Given the description of an element on the screen output the (x, y) to click on. 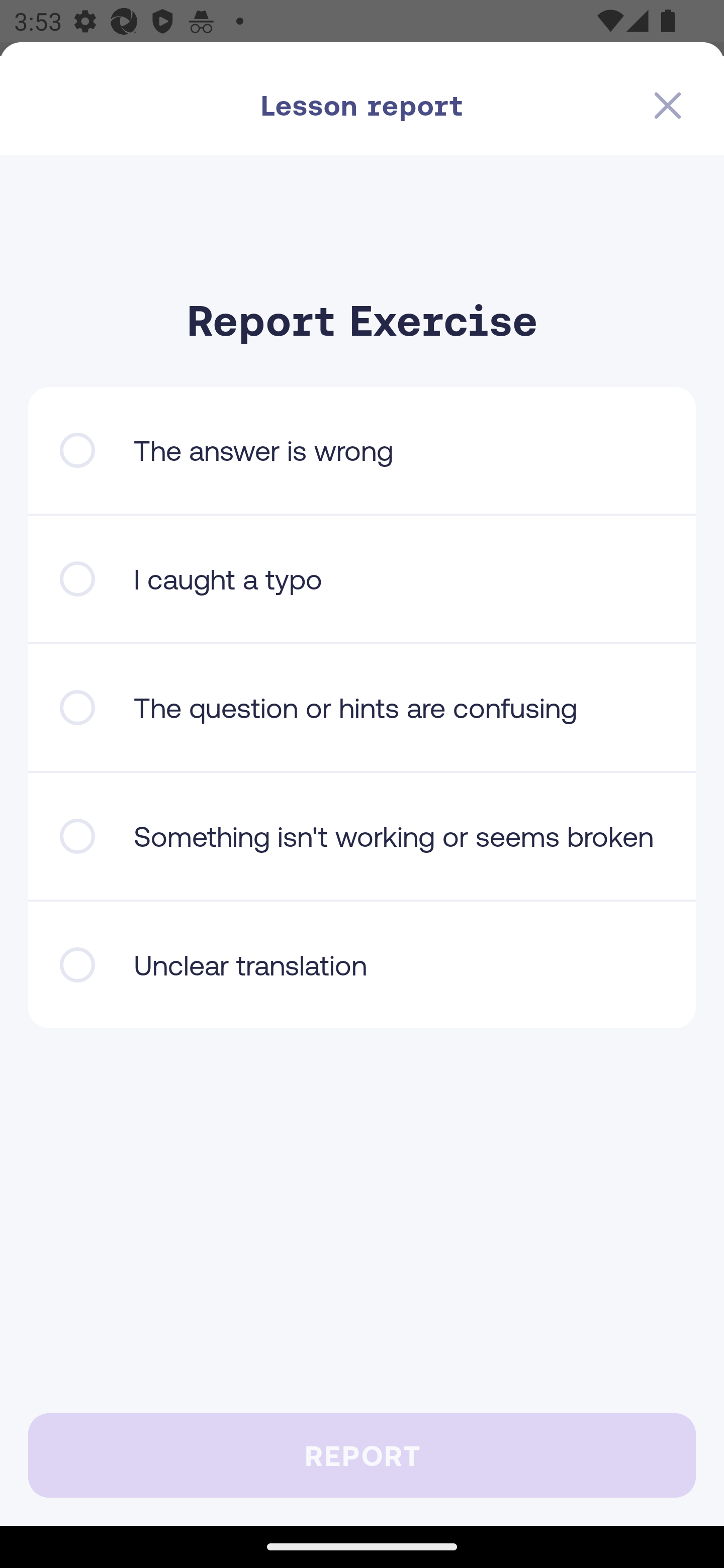
The answer is wrong (361, 450)
I caught a typo (361, 578)
The question or hints are confusing (361, 707)
Something isn't working or seems broken (361, 836)
Unclear translation (361, 964)
REPORT (361, 1454)
